Given the description of an element on the screen output the (x, y) to click on. 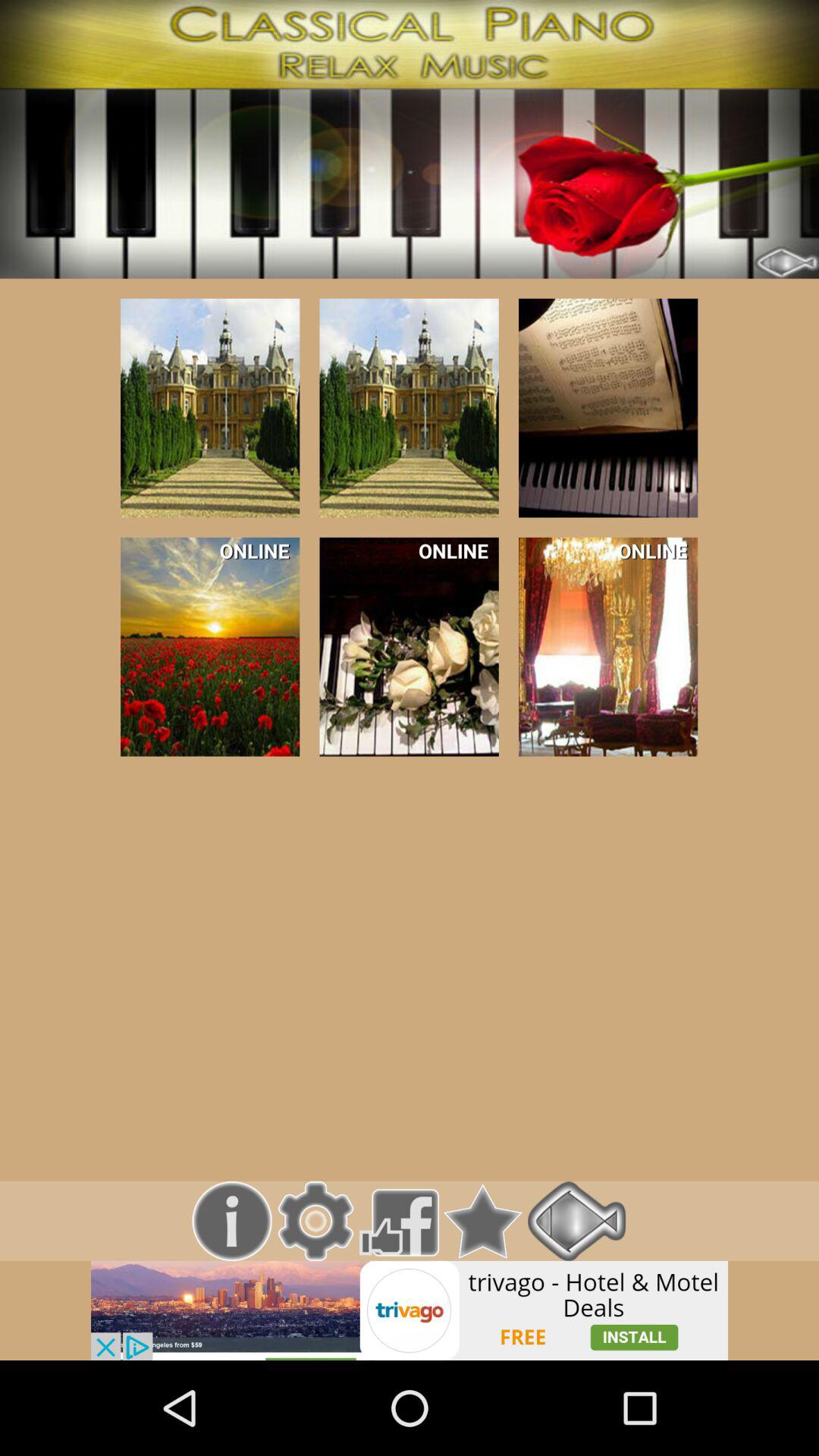
click on image (408, 407)
